Given the description of an element on the screen output the (x, y) to click on. 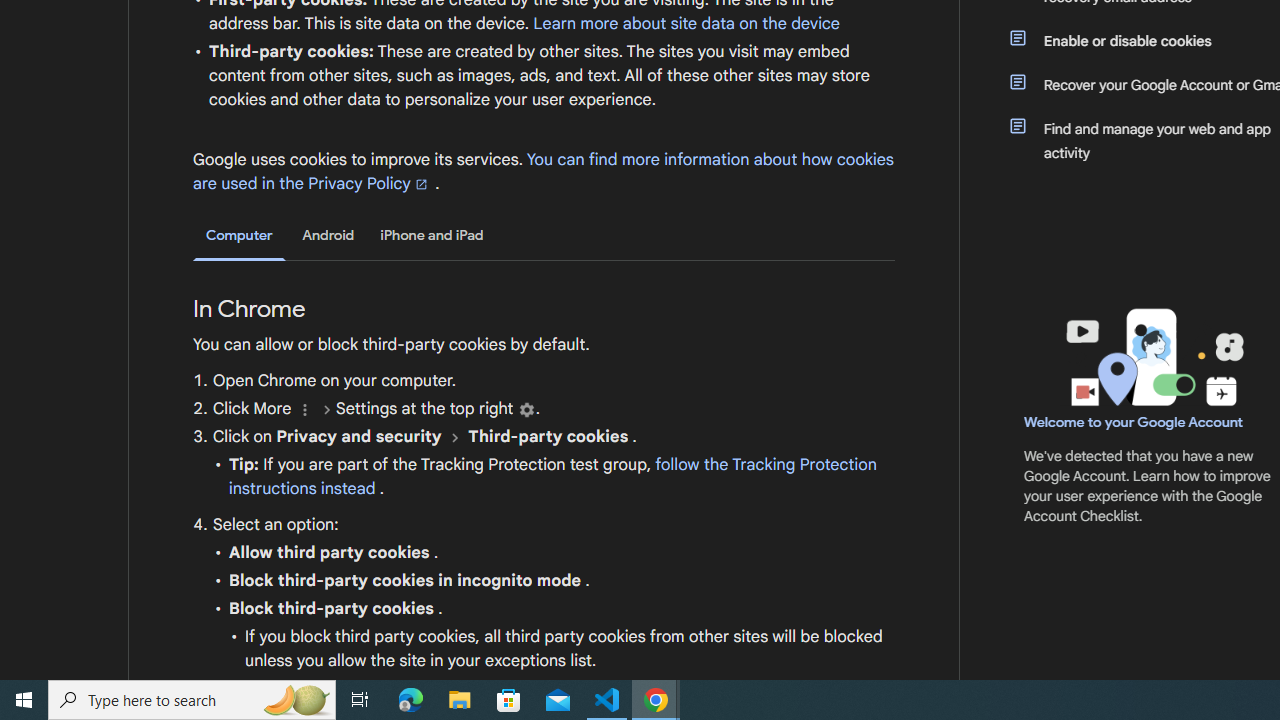
iPhone and iPad (431, 235)
Institutions (526, 409)
Learning Center home page image (1152, 357)
Computer (239, 235)
follow the Tracking Protection instructions instead (552, 476)
Android (328, 235)
More (303, 409)
Learn more about site data on the device (686, 23)
and then (454, 437)
Welcome to your Google Account (1134, 422)
